Given the description of an element on the screen output the (x, y) to click on. 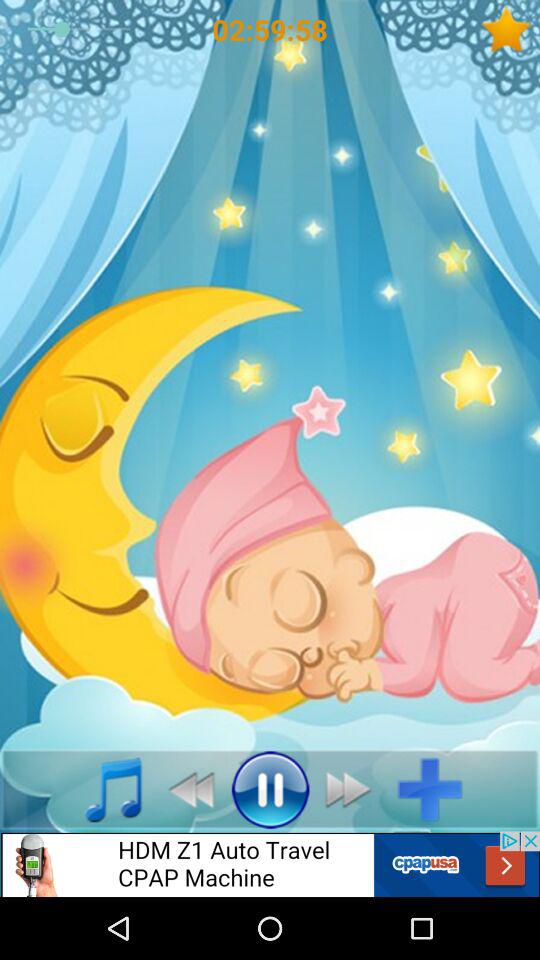
previous audio (186, 789)
